Given the description of an element on the screen output the (x, y) to click on. 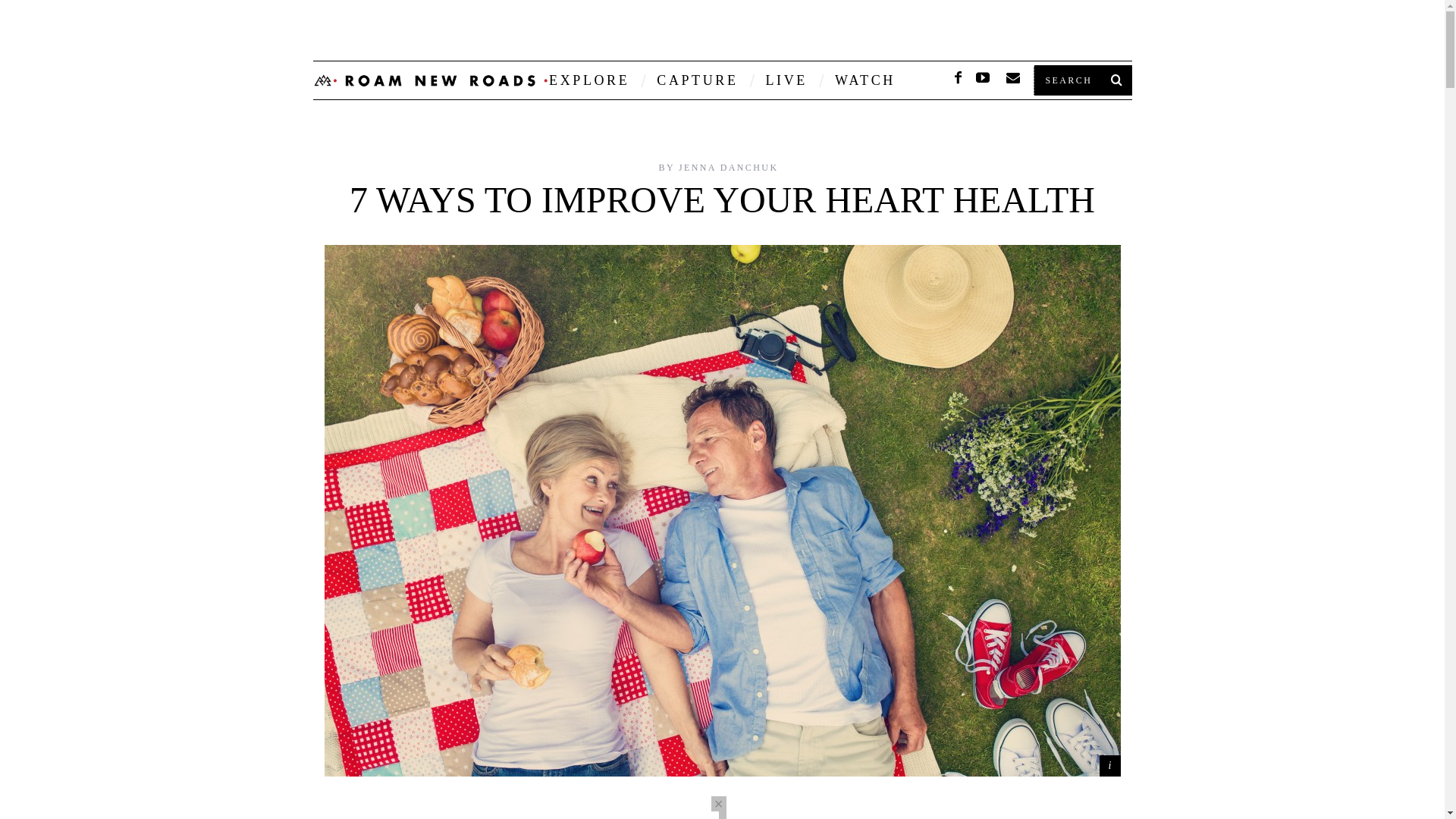
EXPLORE (588, 80)
CAPTURE (697, 80)
Search (1081, 80)
LIVE (786, 80)
